Given the description of an element on the screen output the (x, y) to click on. 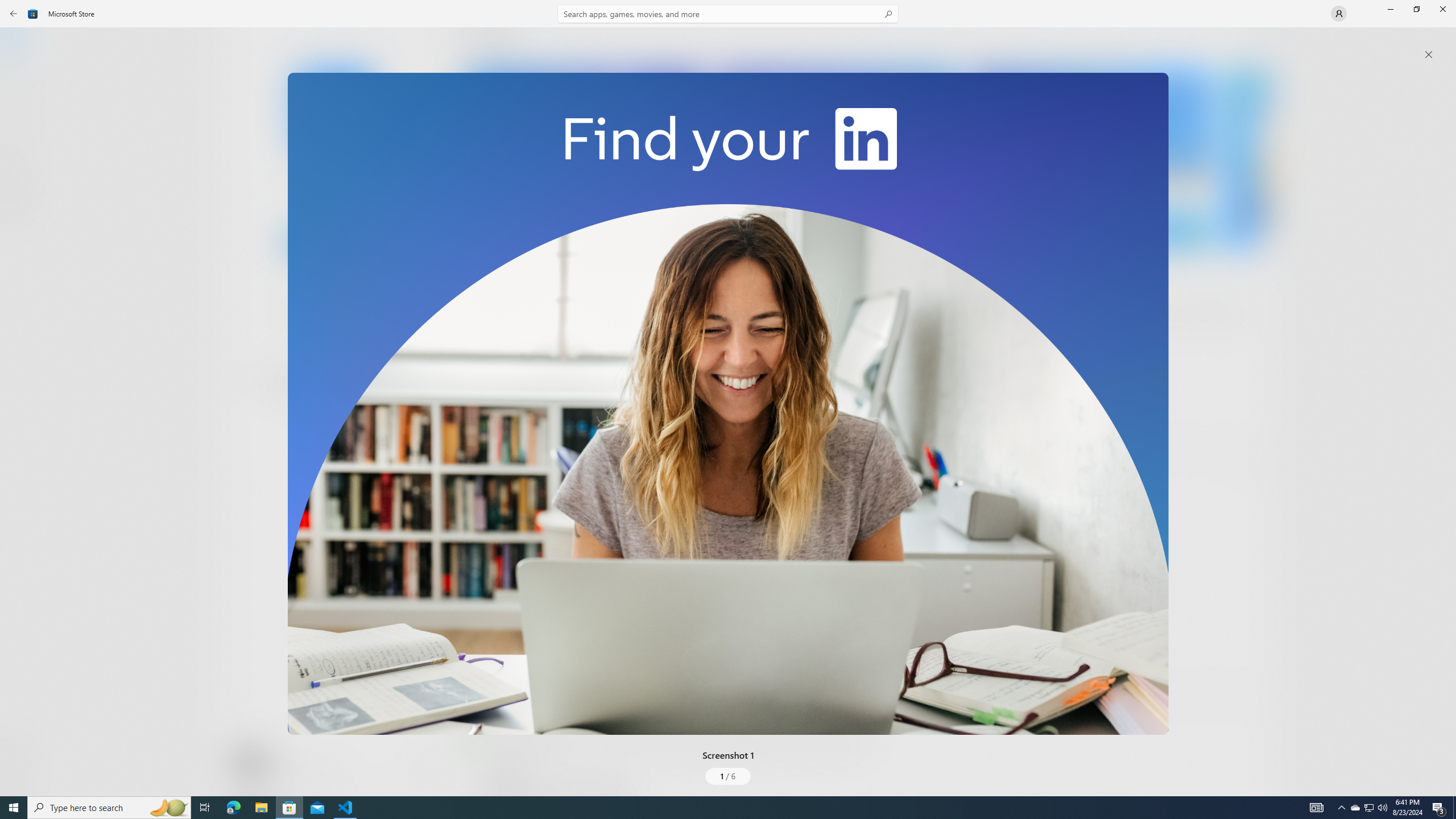
Age rating: TEEN. Click for more information. (276, 762)
Show more (485, 426)
close popup window (1428, 54)
Screenshot 4 (1247, 158)
AutomationID: NavigationControl (728, 398)
Share (424, 769)
Search (727, 13)
LinkedIn (332, 189)
Screenshot 2 (836, 158)
Show all ratings and reviews (477, 667)
